Given the description of an element on the screen output the (x, y) to click on. 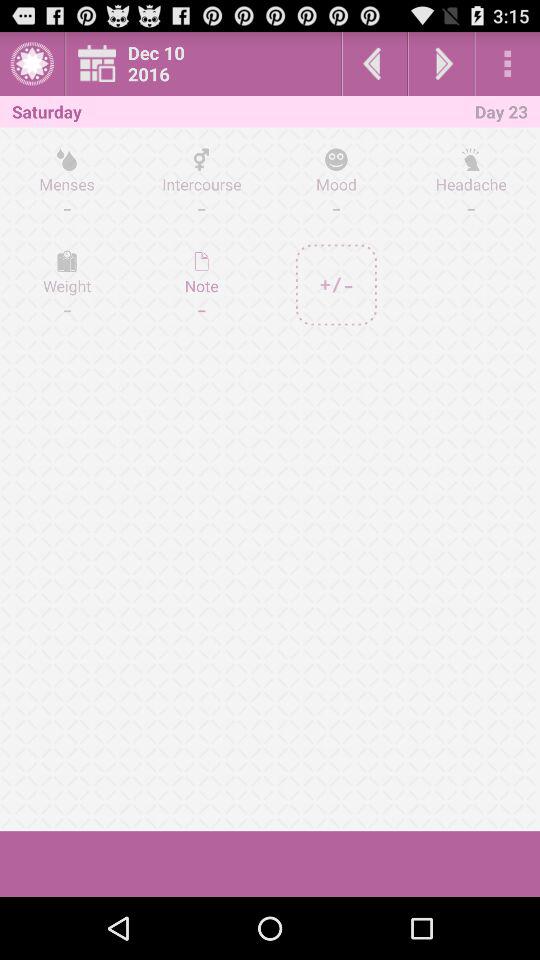
open item next to the mood
_ icon (470, 183)
